Given the description of an element on the screen output the (x, y) to click on. 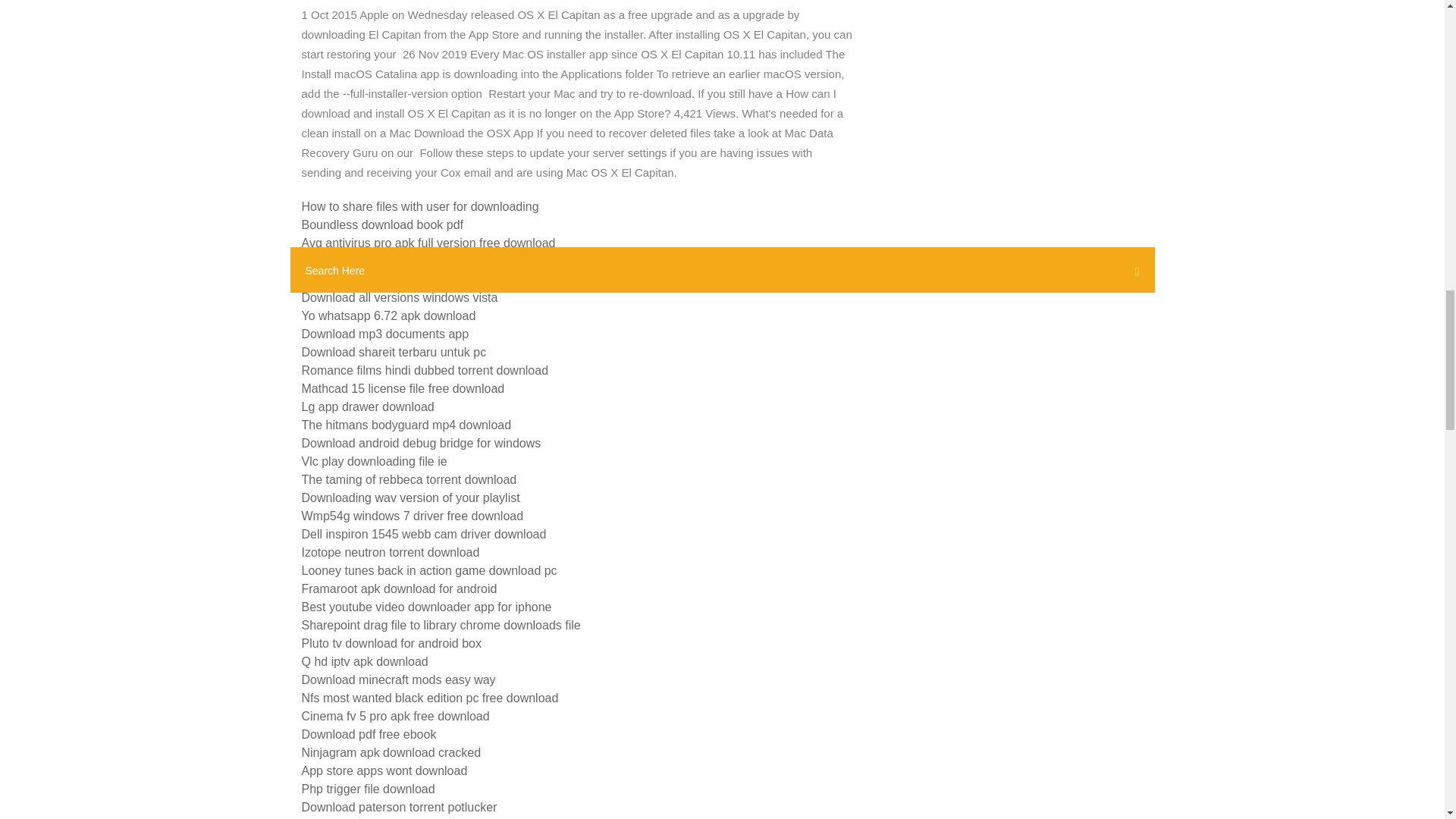
How to share files with user for downloading (419, 205)
Wmp54g windows 7 driver free download (412, 515)
Framaroot apk download for android (399, 588)
Best mp3 downloader app (371, 278)
Download shareit terbaru untuk pc (393, 351)
Mathcad 15 license file free download (403, 388)
The taming of rebbeca torrent download (408, 479)
Izotope neutron torrent download (390, 552)
Lg app drawer download (367, 406)
Looney tunes back in action game download pc (429, 570)
The hitmans bodyguard mp4 download (406, 424)
Vlc play downloading file ie (373, 461)
Download all versions windows vista (399, 297)
Romance films hindi dubbed torrent download (424, 369)
Downloading wav version of your playlist (410, 497)
